Given the description of an element on the screen output the (x, y) to click on. 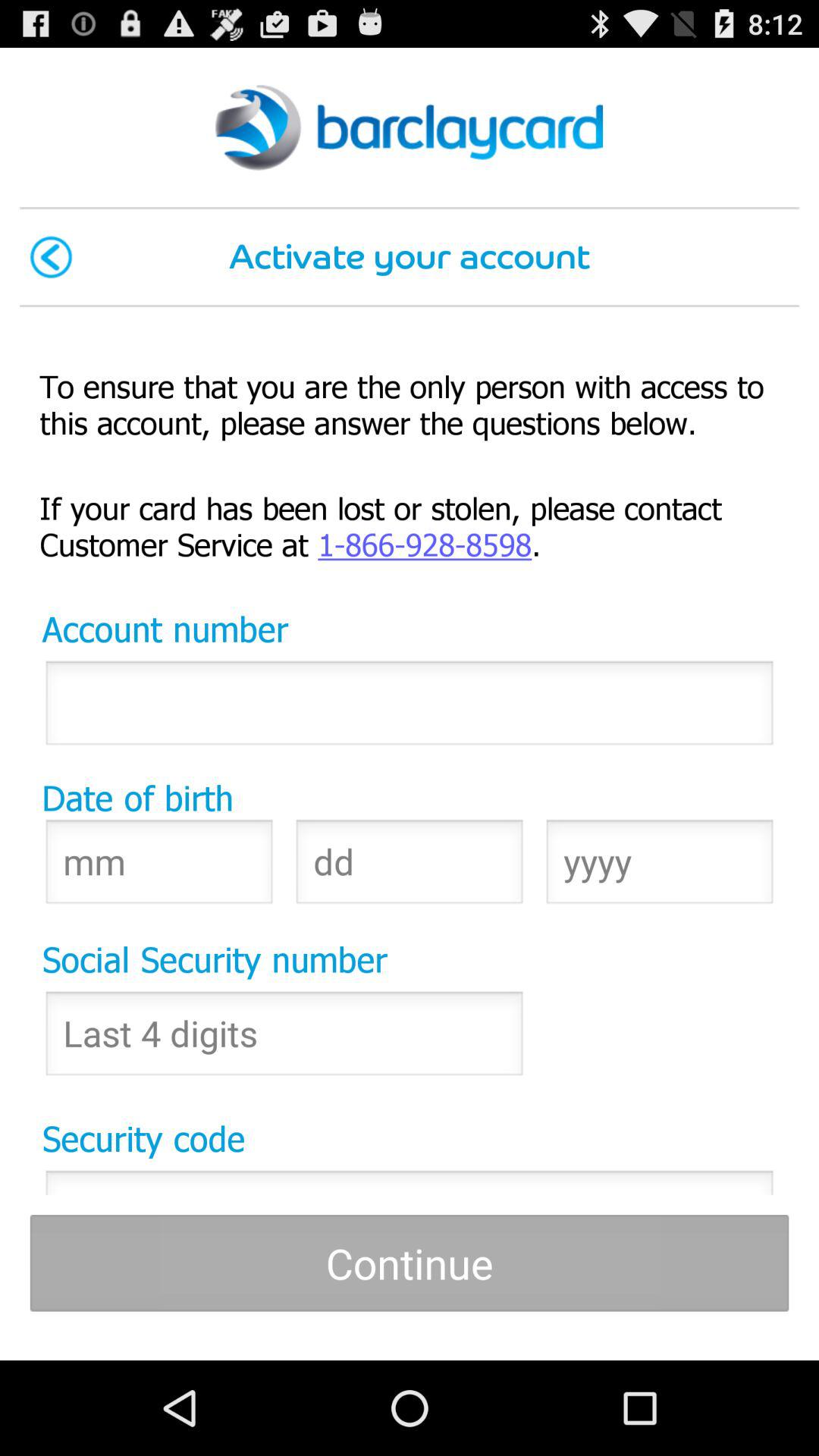
click the continue (409, 1262)
